Given the description of an element on the screen output the (x, y) to click on. 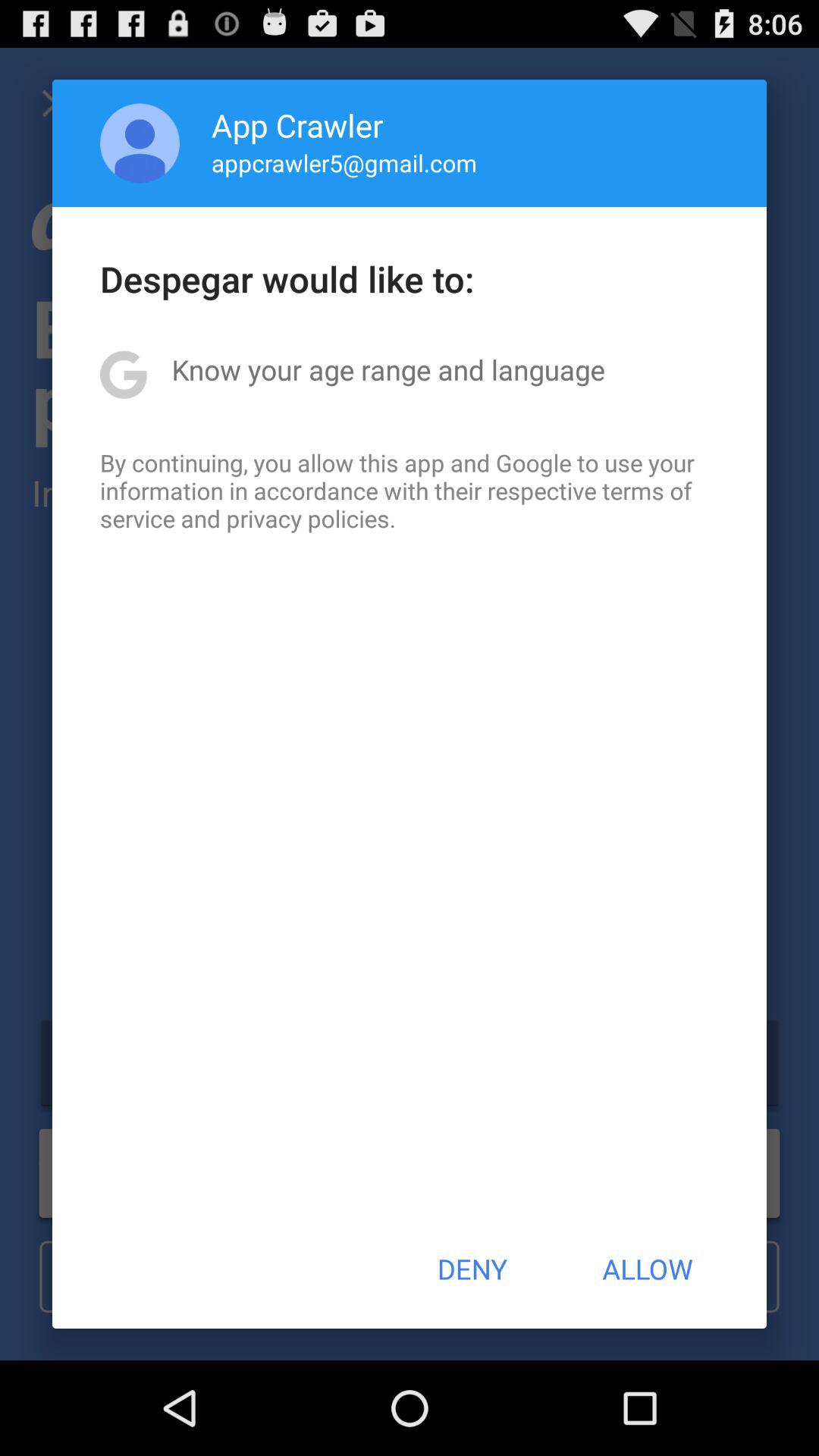
click the app above appcrawler5@gmail.com app (297, 124)
